Given the description of an element on the screen output the (x, y) to click on. 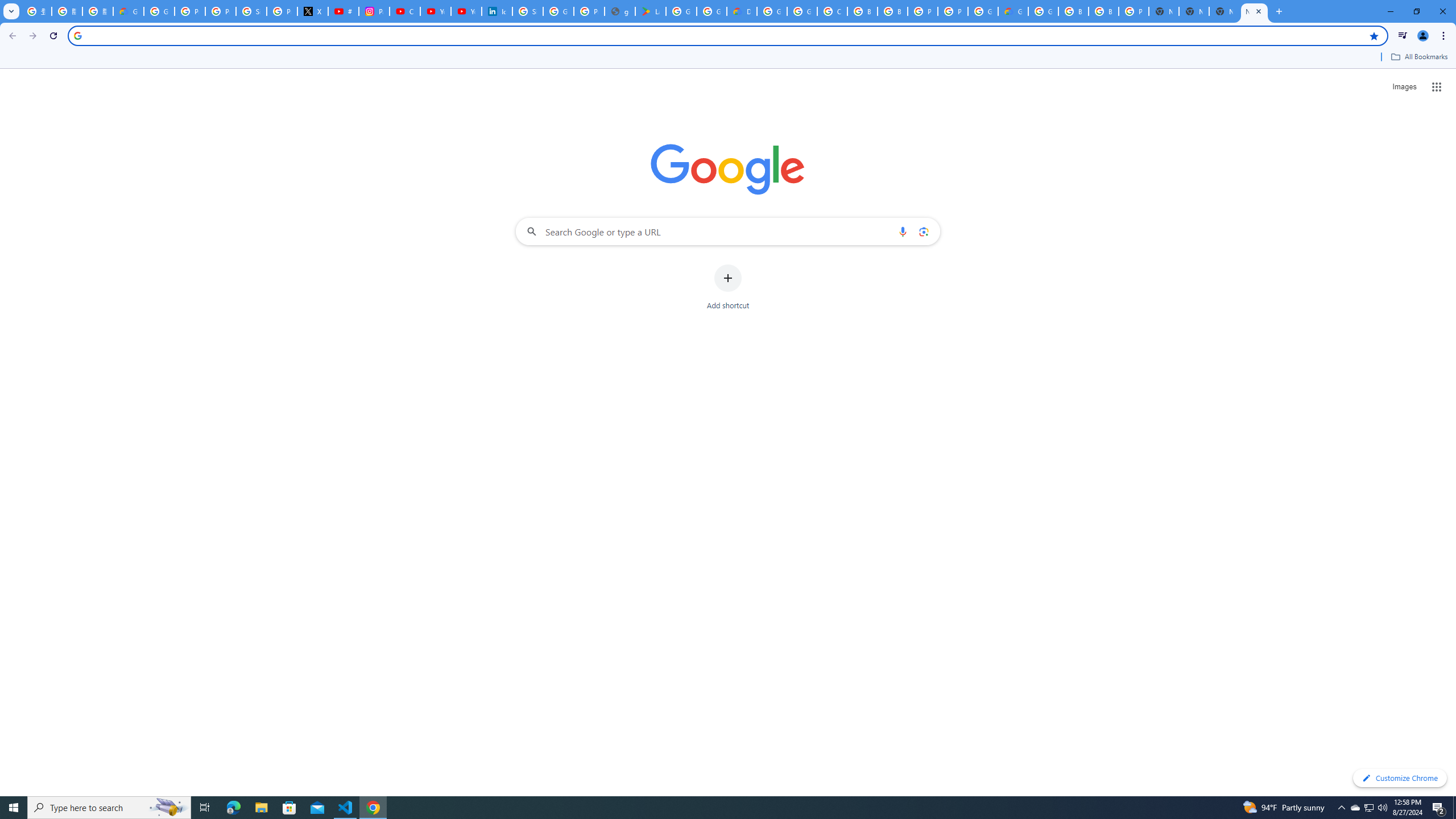
Search Google or type a URL (727, 230)
YouTube Culture & Trends - YouTube Top 10, 2021 (465, 11)
Google Cloud Estimate Summary (1012, 11)
New Tab (1224, 11)
Search for Images  (1403, 87)
New Tab (1254, 11)
Last Shelter: Survival - Apps on Google Play (650, 11)
